Given the description of an element on the screen output the (x, y) to click on. 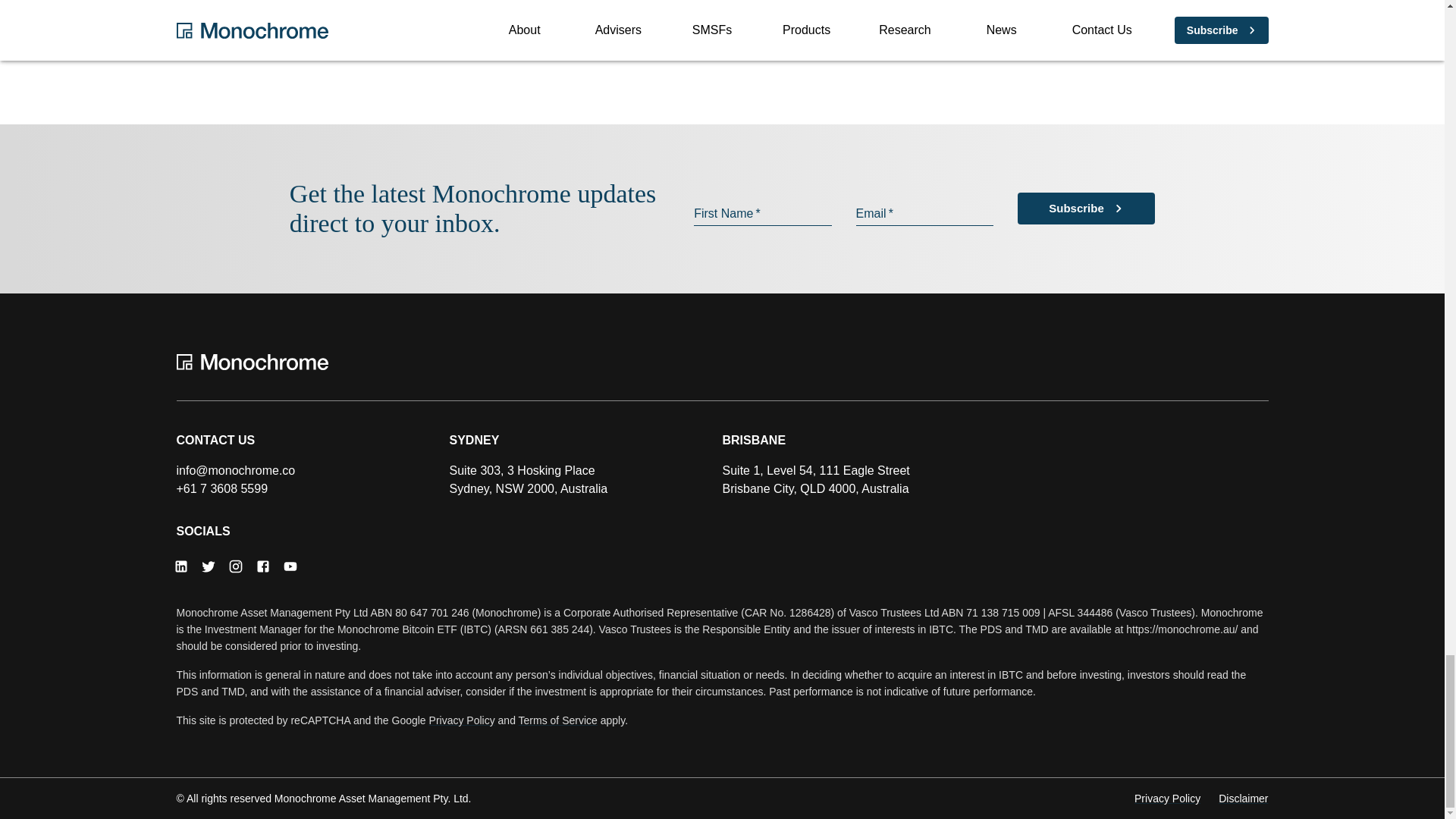
YouTube (289, 565)
Home (722, 361)
Twitter (207, 565)
LinkedIn (180, 565)
Facebook (262, 565)
Instagram (234, 565)
